Given the description of an element on the screen output the (x, y) to click on. 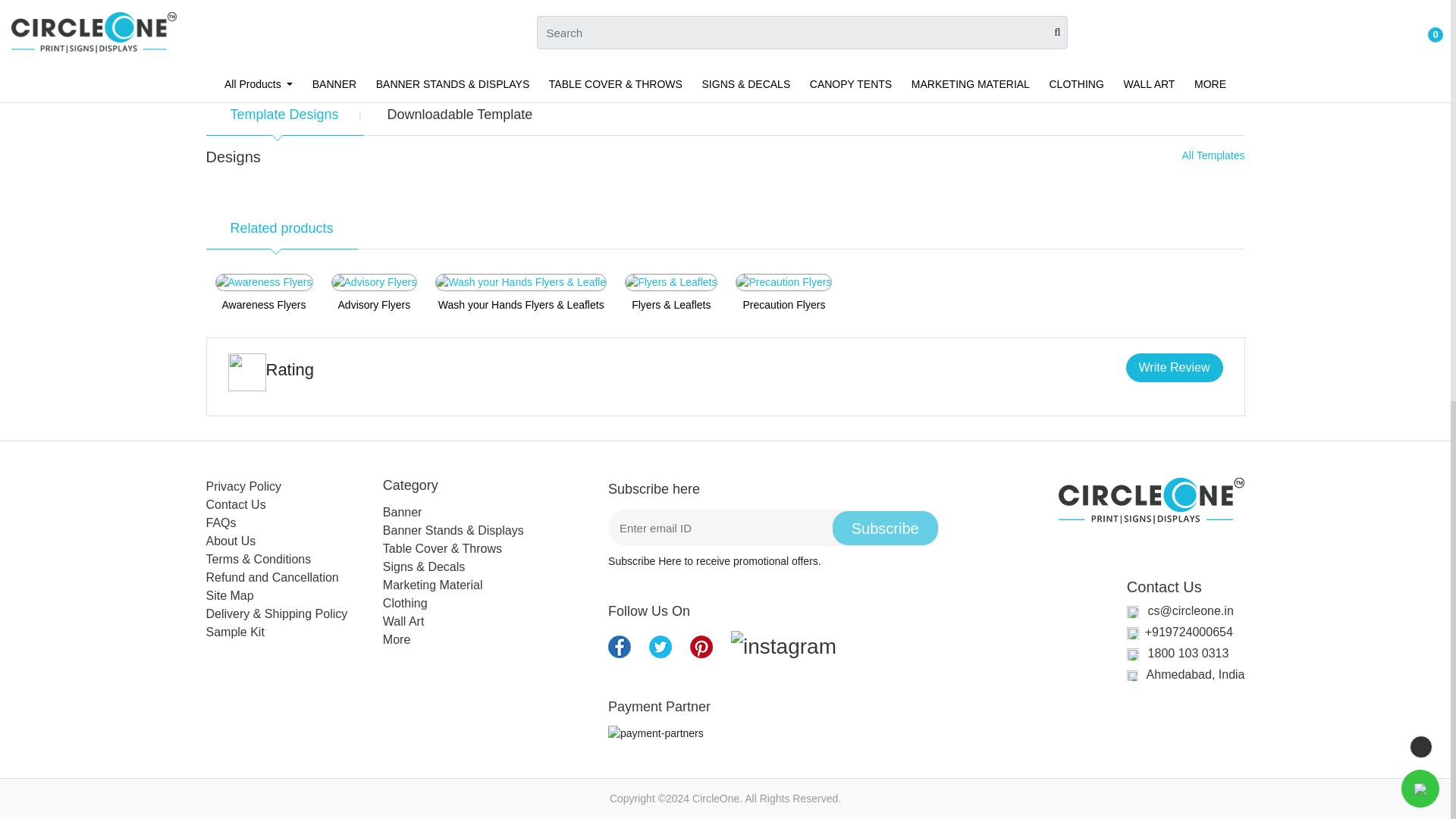
Precaution Flyers (783, 282)
payment-partners (655, 733)
Awareness Flyers (264, 282)
pinterest (782, 645)
twitter (660, 646)
facebook (619, 646)
pinterest (701, 646)
Advisory Flyers (374, 282)
instagram (782, 646)
